Given the description of an element on the screen output the (x, y) to click on. 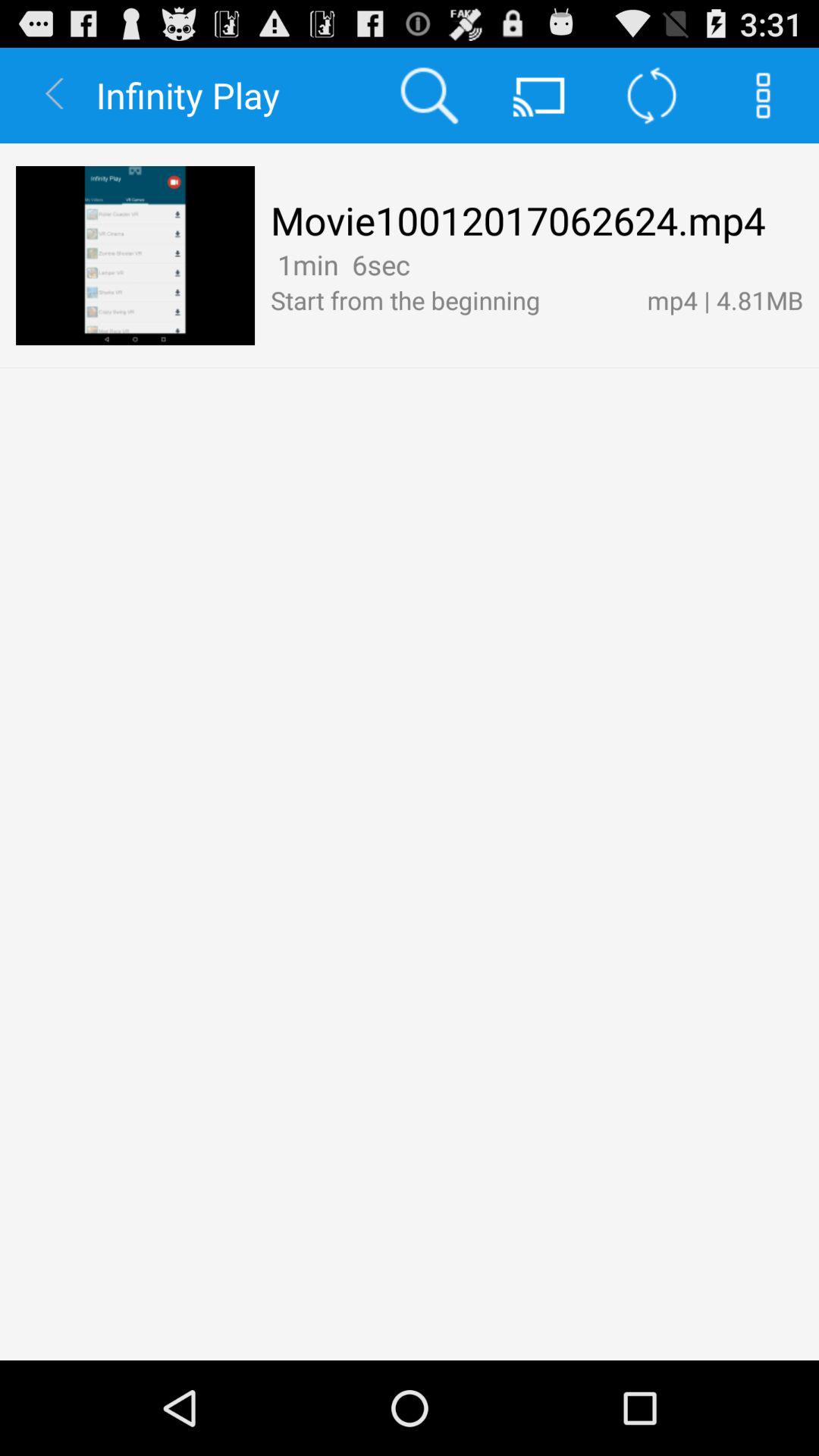
launch app next to the mp4 | 4.81mb item (450, 299)
